Given the description of an element on the screen output the (x, y) to click on. 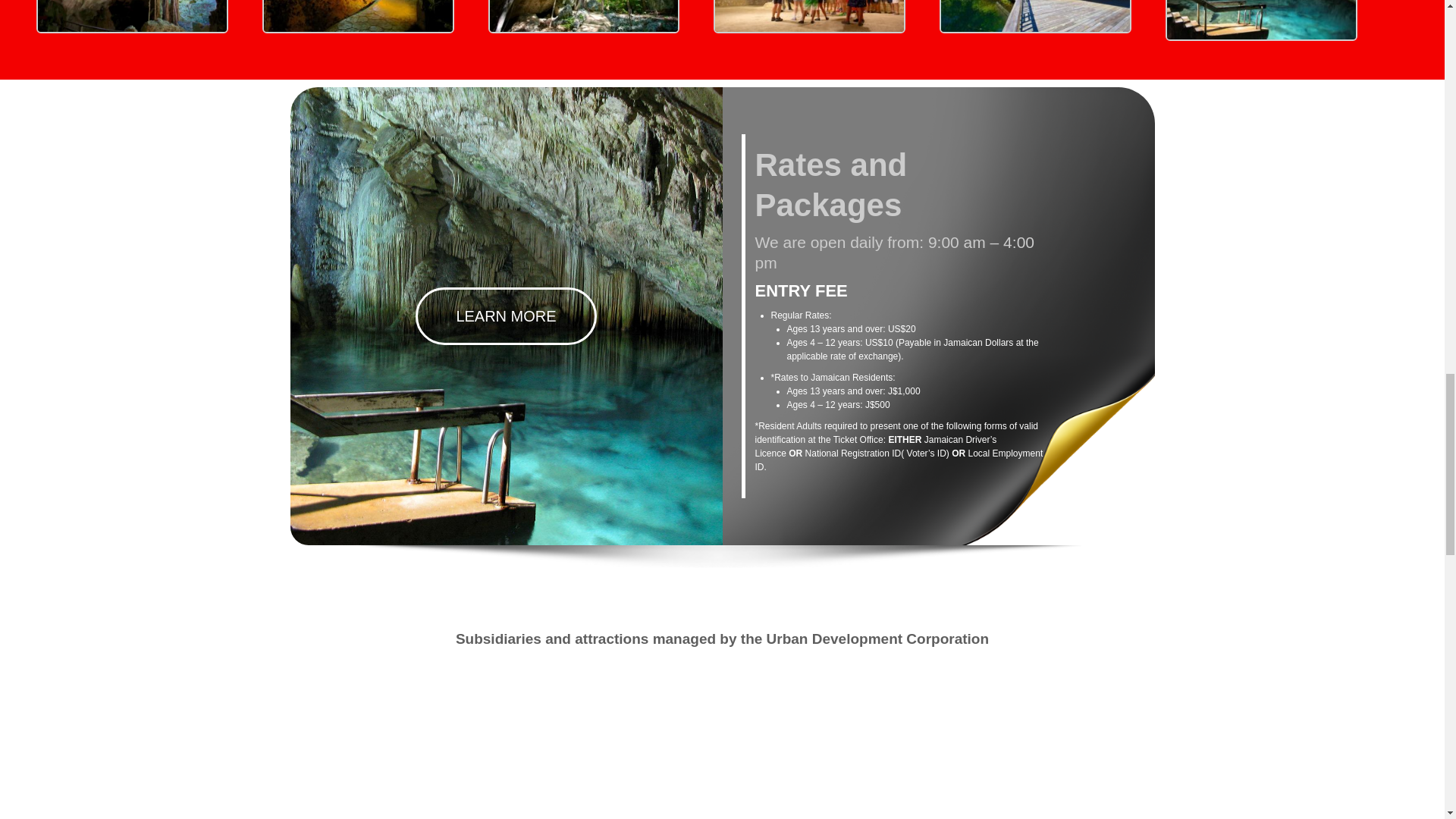
LEARN MORE (504, 315)
